Given the description of an element on the screen output the (x, y) to click on. 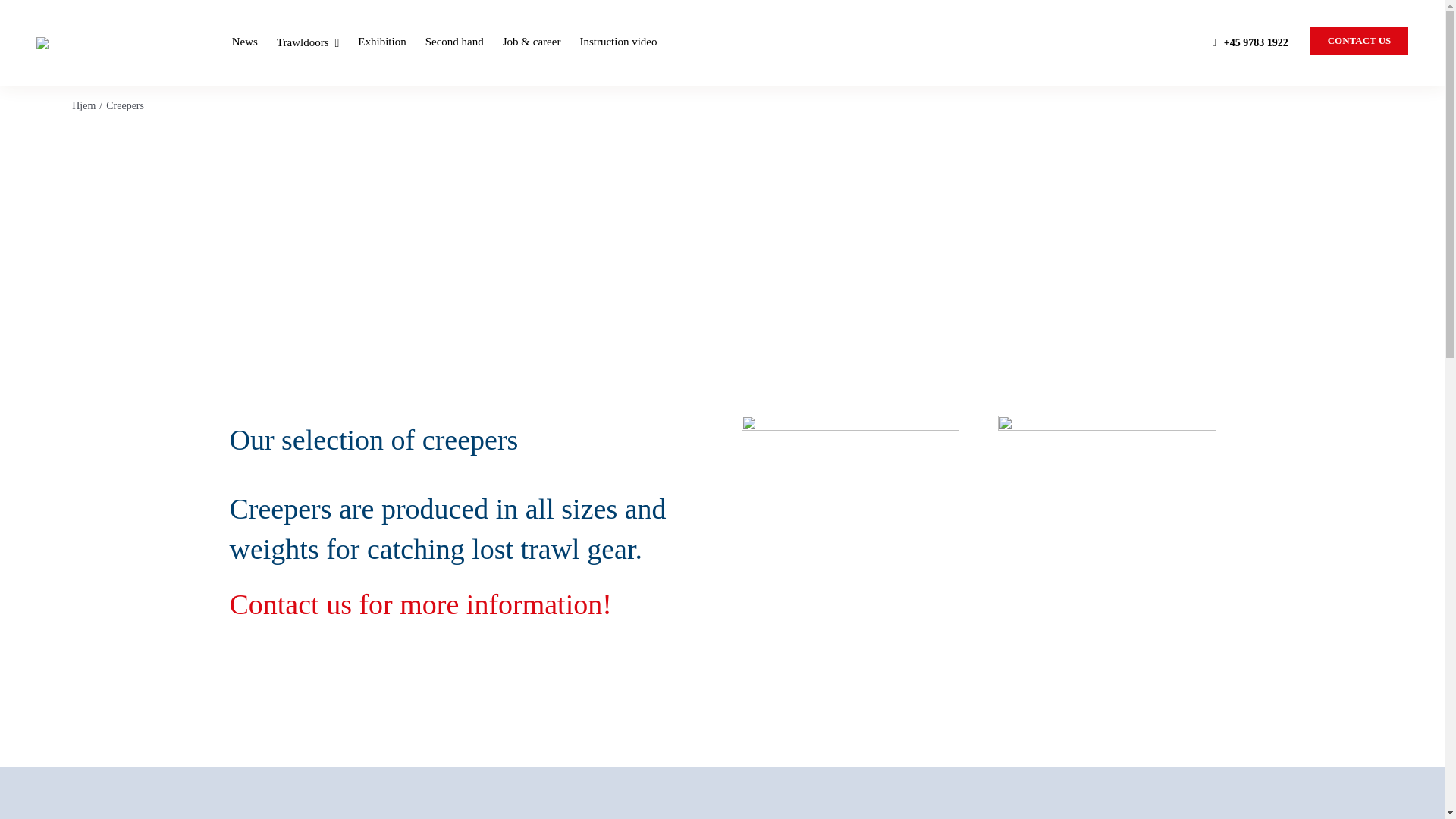
creepers (1105, 523)
CONTACT US (1359, 40)
Instruction video (617, 42)
Hjem (83, 105)
Contact us for more information! (419, 603)
Exhibition (382, 42)
Second hand (454, 42)
News (244, 42)
Trawldoors (307, 42)
